Given the description of an element on the screen output the (x, y) to click on. 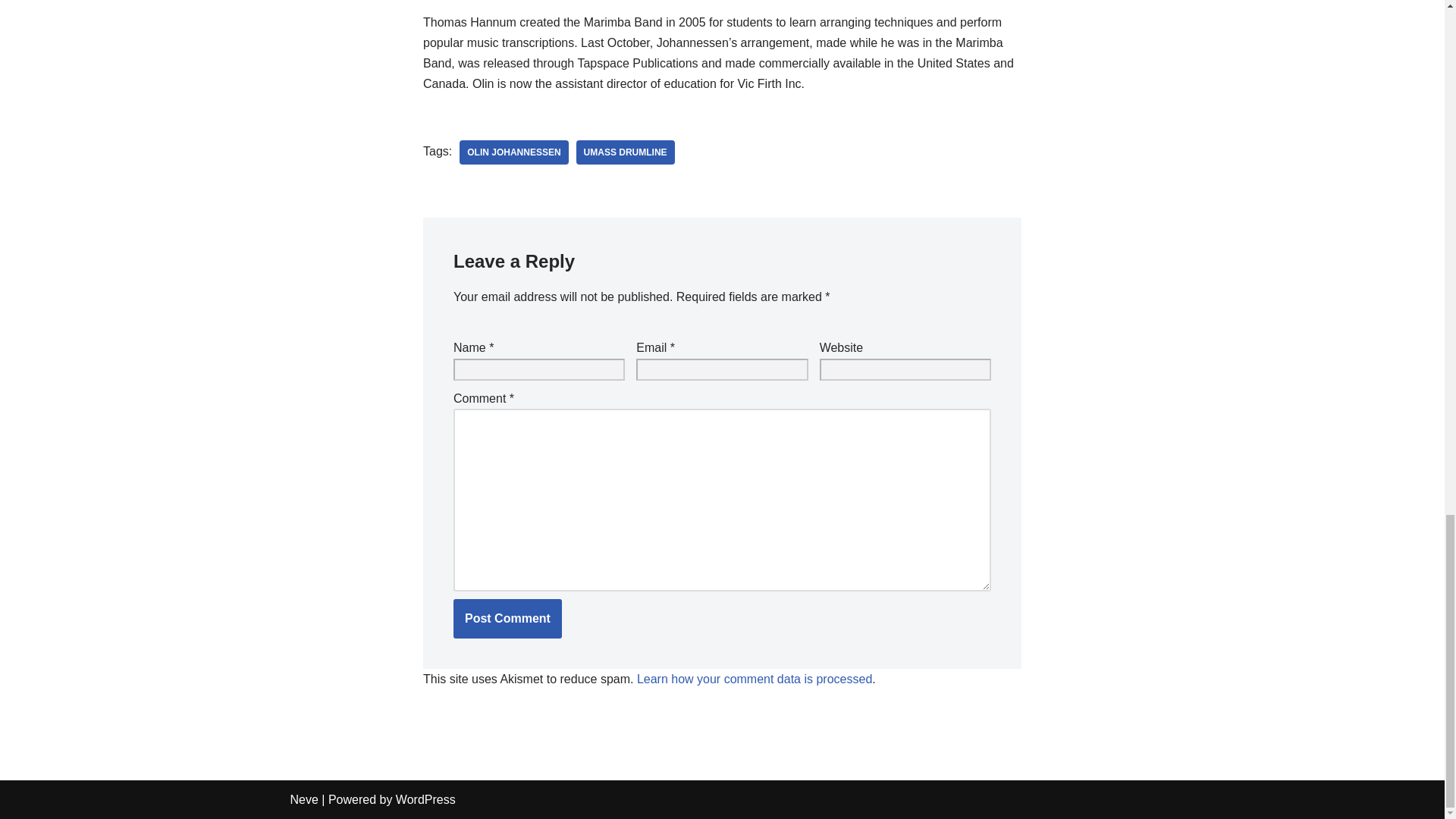
Post Comment (507, 618)
UMass Drumline (625, 152)
Olin Johannessen (513, 152)
